Given the description of an element on the screen output the (x, y) to click on. 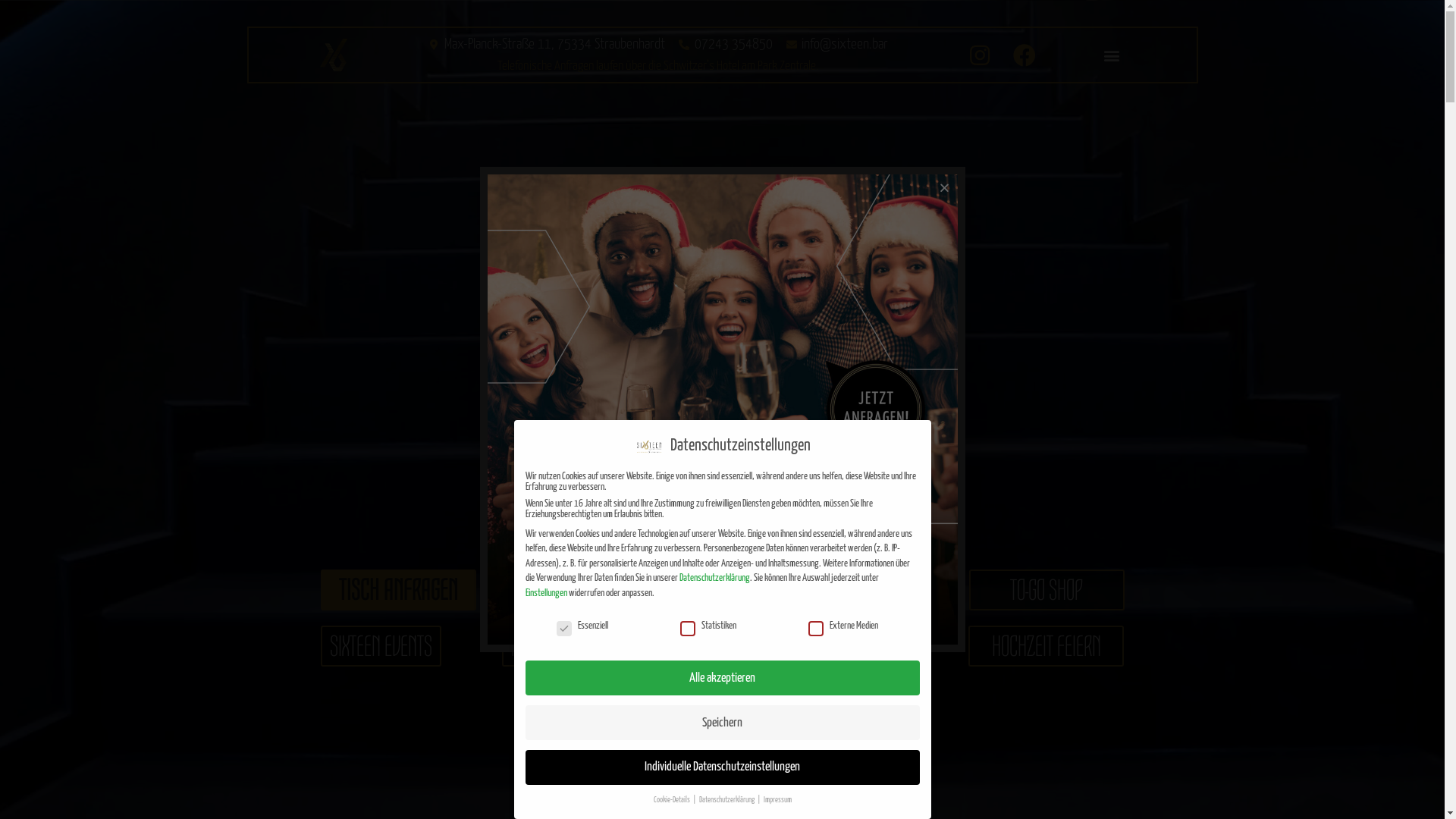
Einstellungen Element type: text (545, 593)
Individuelle Datenschutzeinstellungen Element type: text (721, 766)
Cookie-Details Element type: text (672, 799)
TISCH ANFRAGEN Element type: text (397, 589)
SPEISEKARTE Element type: text (614, 589)
GEBURTSTAG FEIERN Element type: text (829, 645)
Alle akzeptieren Element type: text (721, 677)
07243 354850 Element type: text (724, 44)
info@sixteen.bar Element type: text (836, 44)
Impressum Element type: text (776, 799)
Speichern Element type: text (721, 722)
HOCHZEIT FEIERN Element type: text (1045, 645)
KONTAKT & ANFAHRT Element type: text (829, 589)
TO-GO SHOP Element type: text (1046, 589)
SIXTEEN EVENTS Element type: text (380, 645)
